Given the description of an element on the screen output the (x, y) to click on. 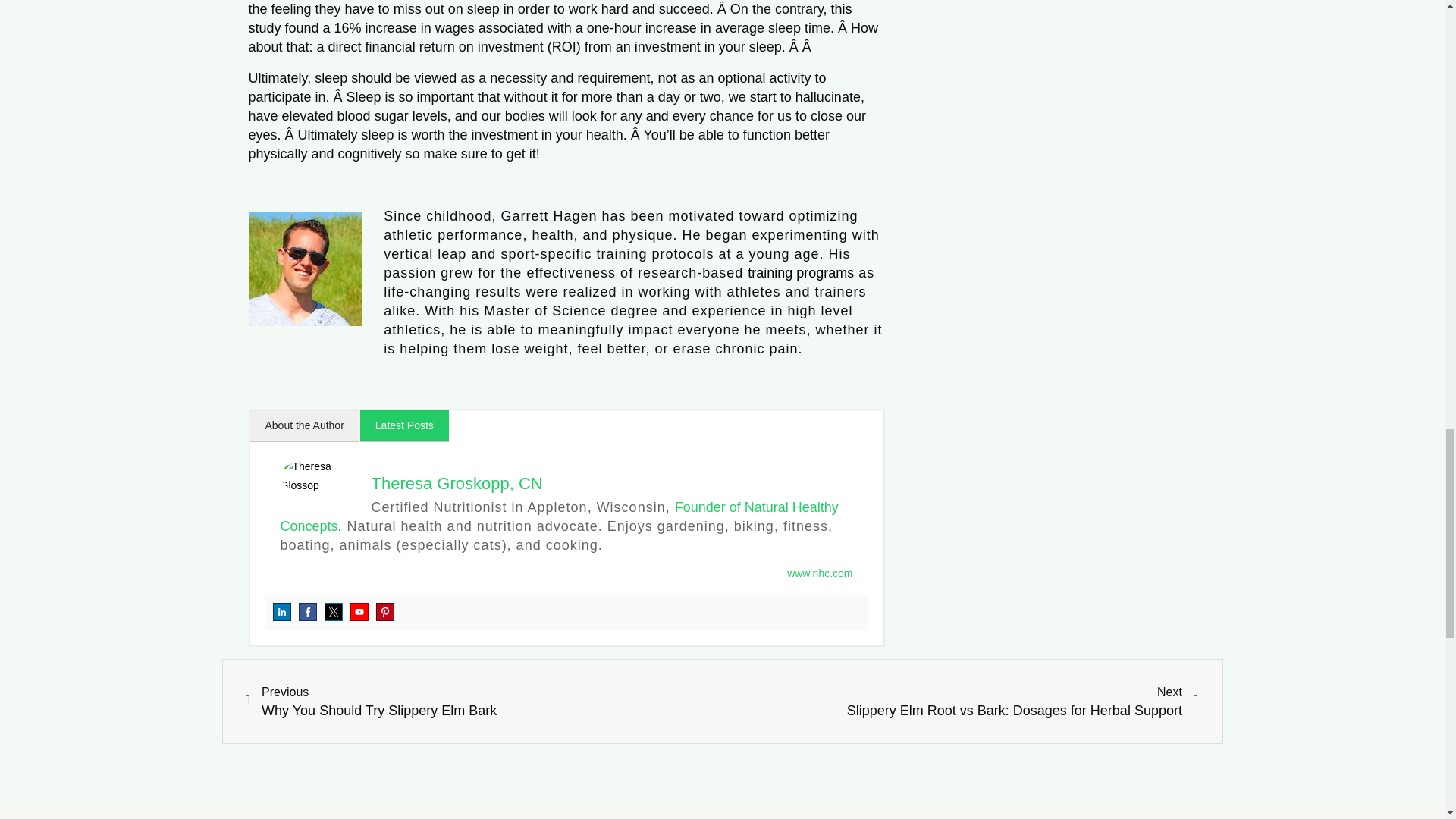
www.nhc.com (819, 573)
Theresa Groskopp, CN (457, 483)
training programs (800, 272)
Pinterest (384, 611)
Founder of Natural Healthy Concepts (559, 516)
this study (549, 18)
Twitter (333, 611)
Youtube (359, 611)
Linkedin (282, 611)
Facebook (307, 611)
